Given the description of an element on the screen output the (x, y) to click on. 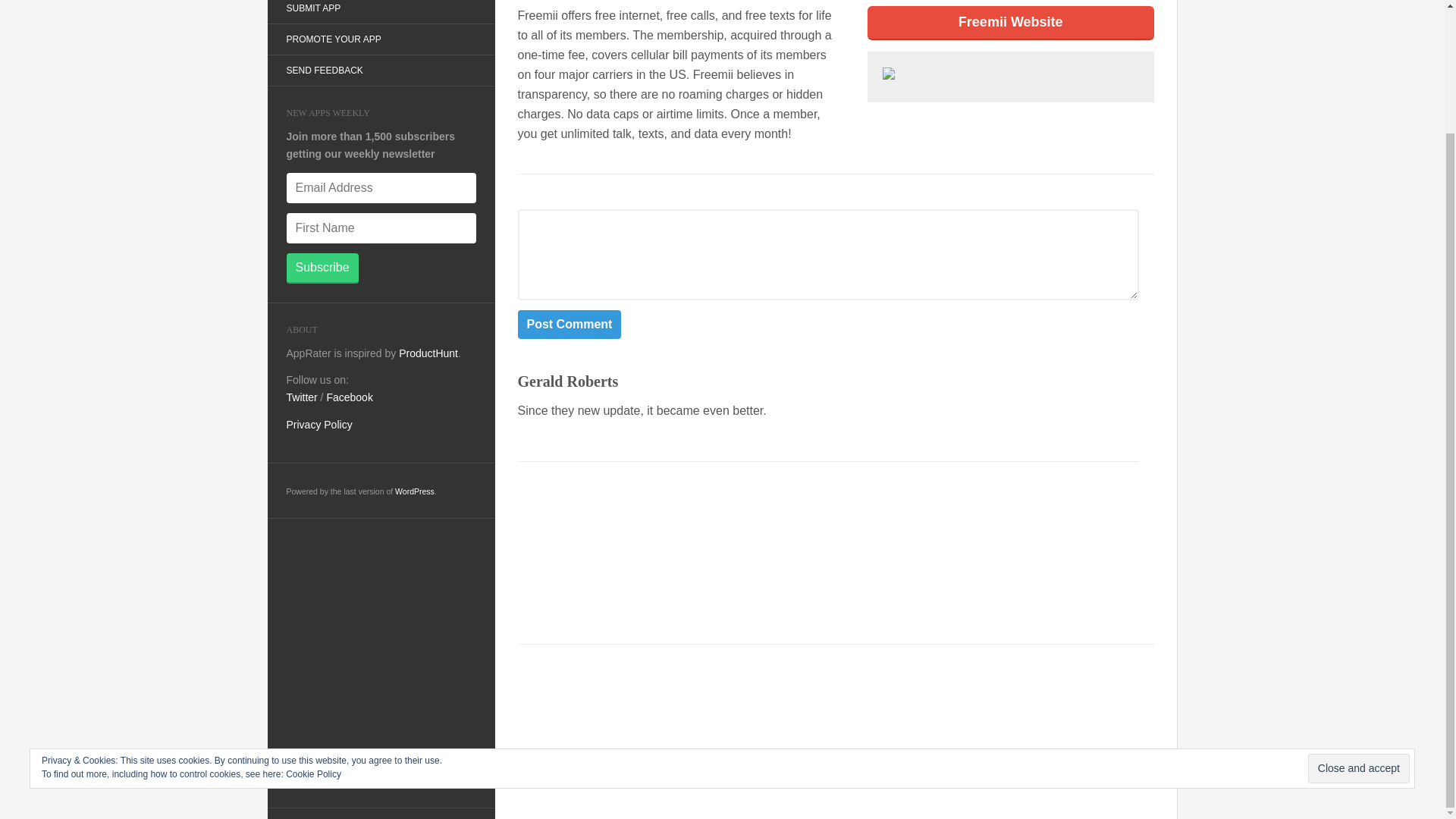
Close and accept (1358, 619)
Close and accept (1358, 619)
ProductHunt (428, 353)
Post Comment (568, 323)
Privacy Policy (319, 424)
WordPress (413, 491)
SUBMIT APP (312, 10)
Post Comment (568, 323)
Subscribe (322, 268)
PROMOTE YOUR APP (332, 39)
